Given the description of an element on the screen output the (x, y) to click on. 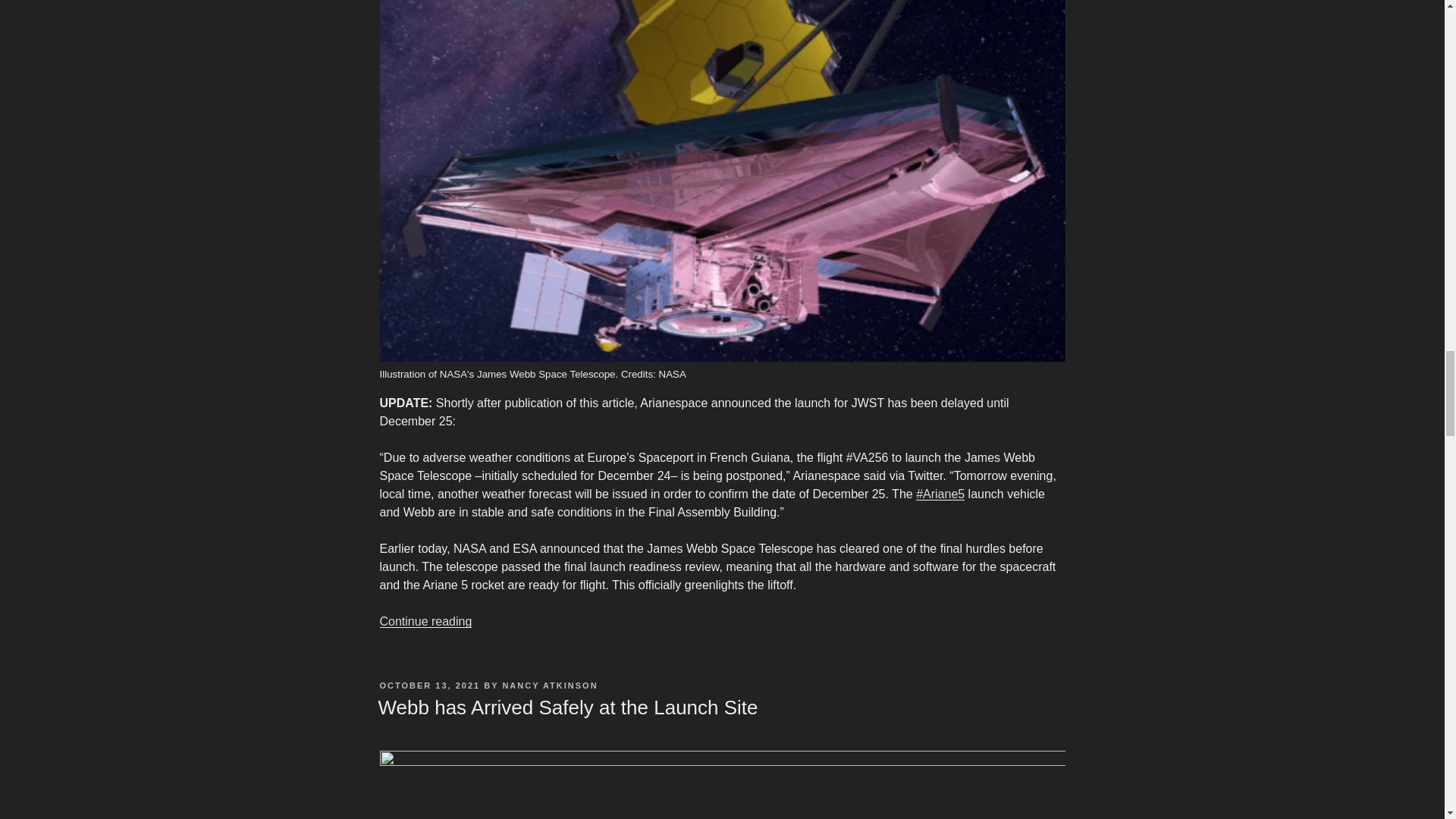
Webb has Arrived Safely at the Launch Site (567, 707)
NANCY ATKINSON (549, 685)
OCTOBER 13, 2021 (429, 685)
